Given the description of an element on the screen output the (x, y) to click on. 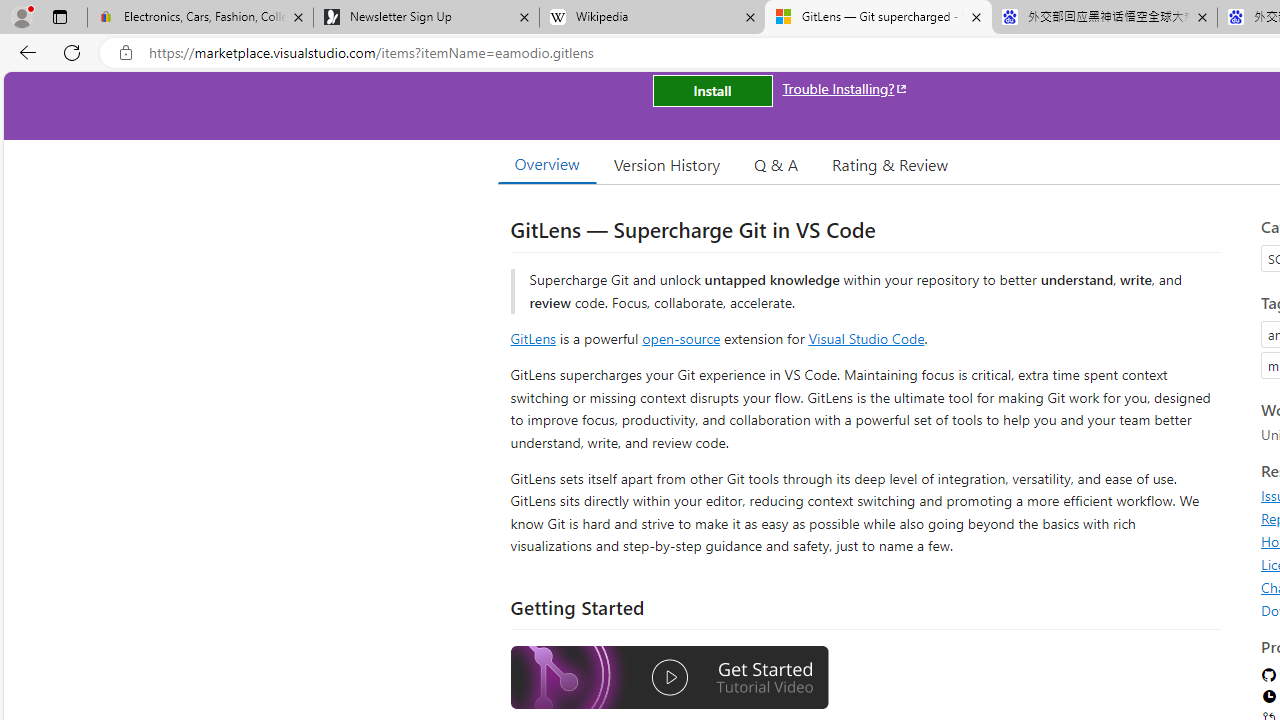
Version History (667, 164)
Newsletter Sign Up (425, 17)
Visual Studio Code (866, 337)
Watch the GitLens Getting Started video (669, 678)
GitLens (532, 337)
